Given the description of an element on the screen output the (x, y) to click on. 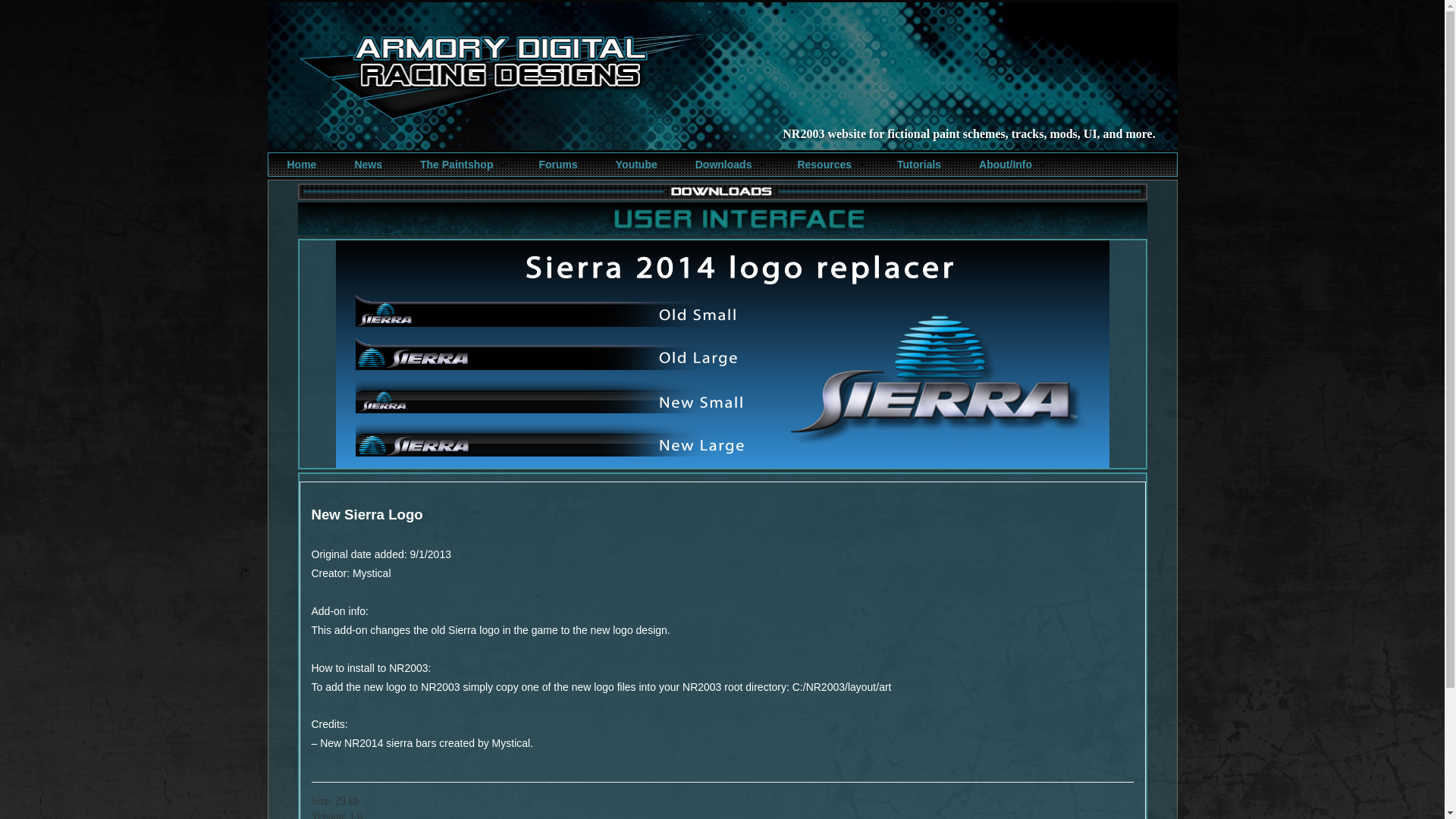
Downloads (726, 164)
News (368, 164)
Youtube (635, 164)
Resources (828, 164)
Forums (557, 164)
Home (300, 164)
The Paintshop (459, 164)
